Given the description of an element on the screen output the (x, y) to click on. 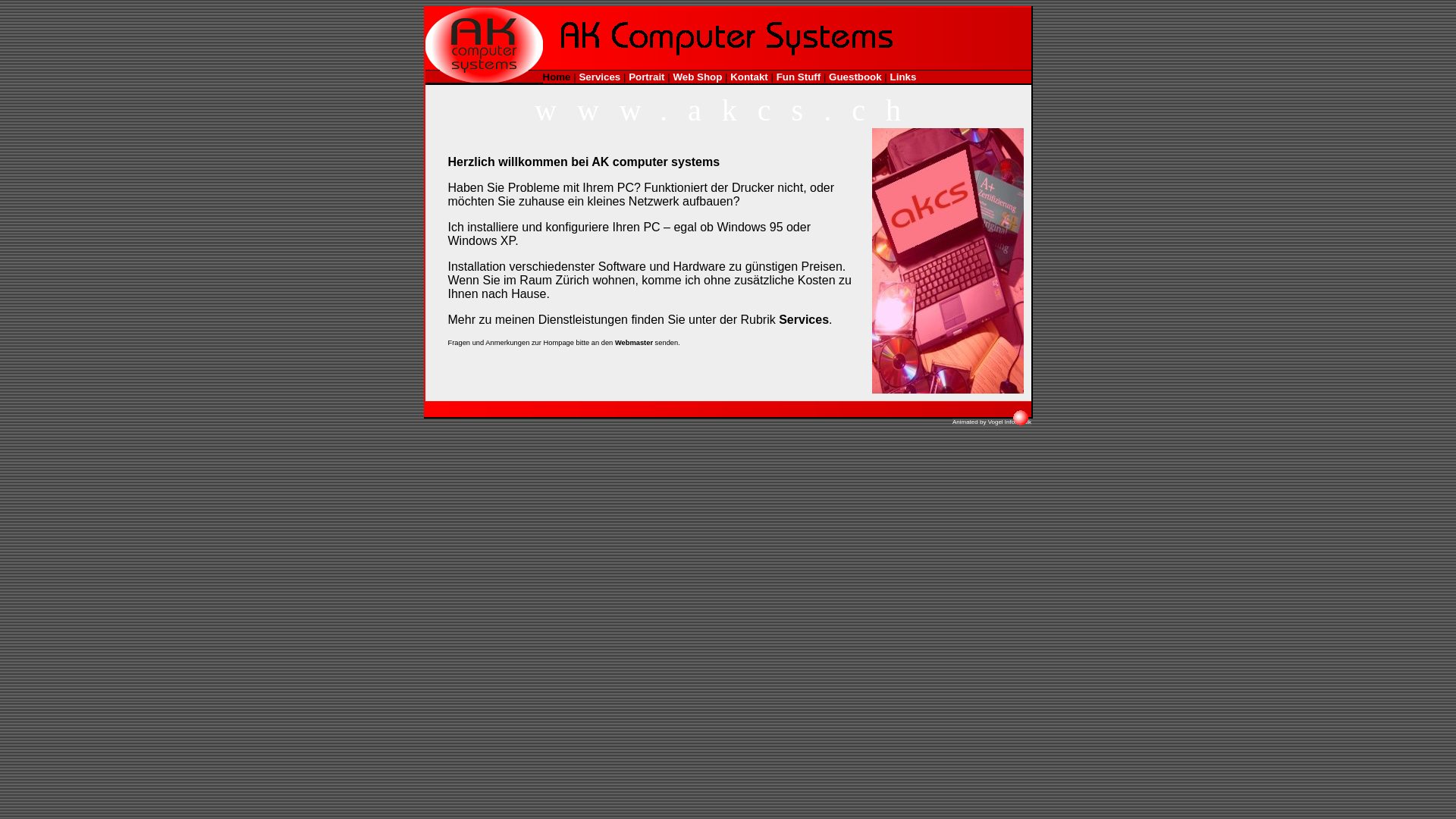
Guestbook Element type: text (854, 76)
Home Element type: text (556, 76)
Animated by Vogel Informatik Element type: text (991, 421)
Fun Stuff Element type: text (798, 76)
Services Element type: text (599, 76)
Links Element type: text (903, 76)
Web Shop Element type: text (696, 76)
Kontakt Element type: text (749, 76)
Services Element type: text (803, 318)
Portrait Element type: text (646, 76)
Webmaster Element type: text (633, 341)
